Given the description of an element on the screen output the (x, y) to click on. 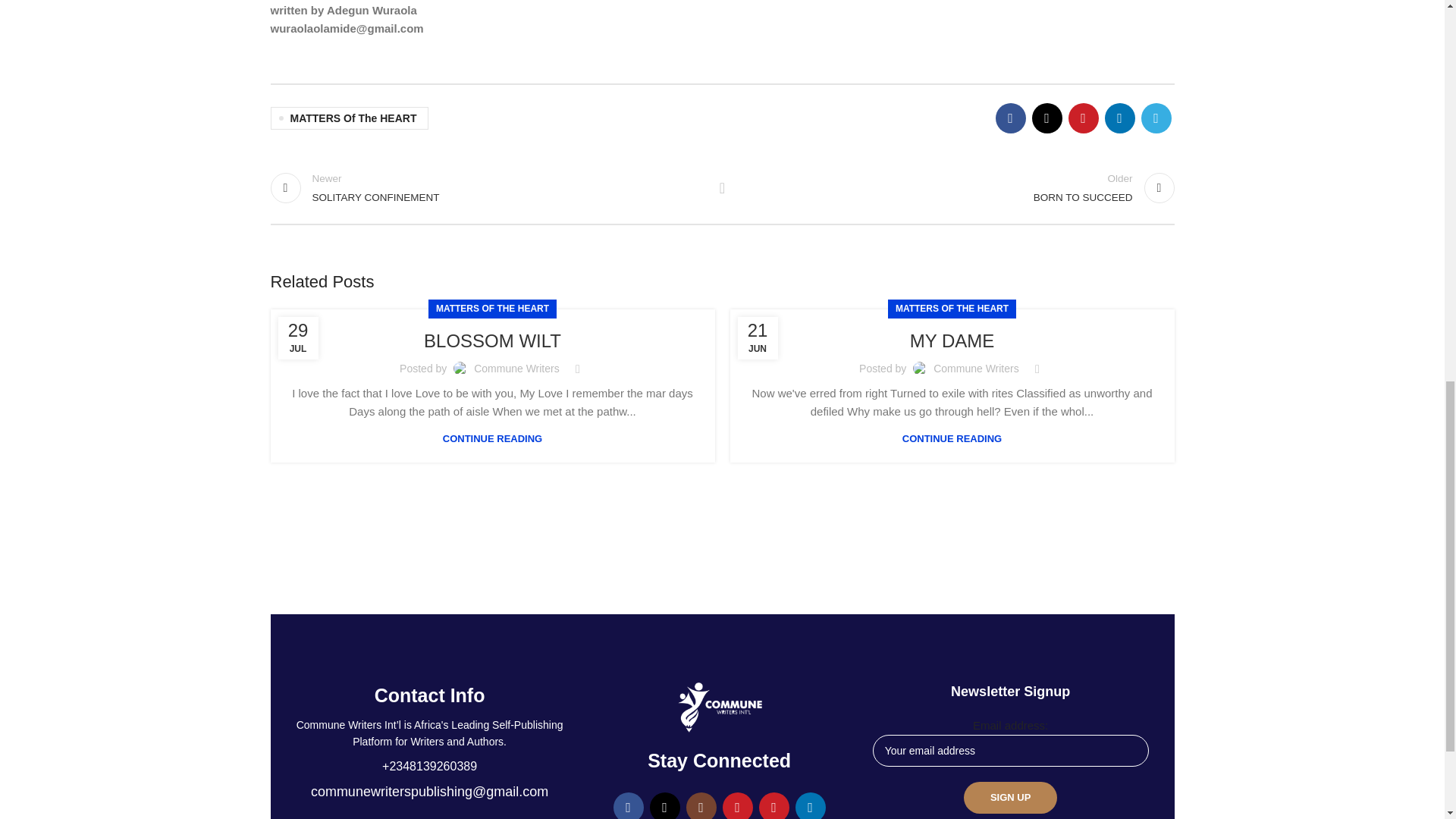
Back to list (721, 187)
BLOSSOM WILT (488, 187)
MATTERS OF THE HEART (491, 340)
MATTERS Of The HEART (491, 308)
Sign up (348, 118)
